Given the description of an element on the screen output the (x, y) to click on. 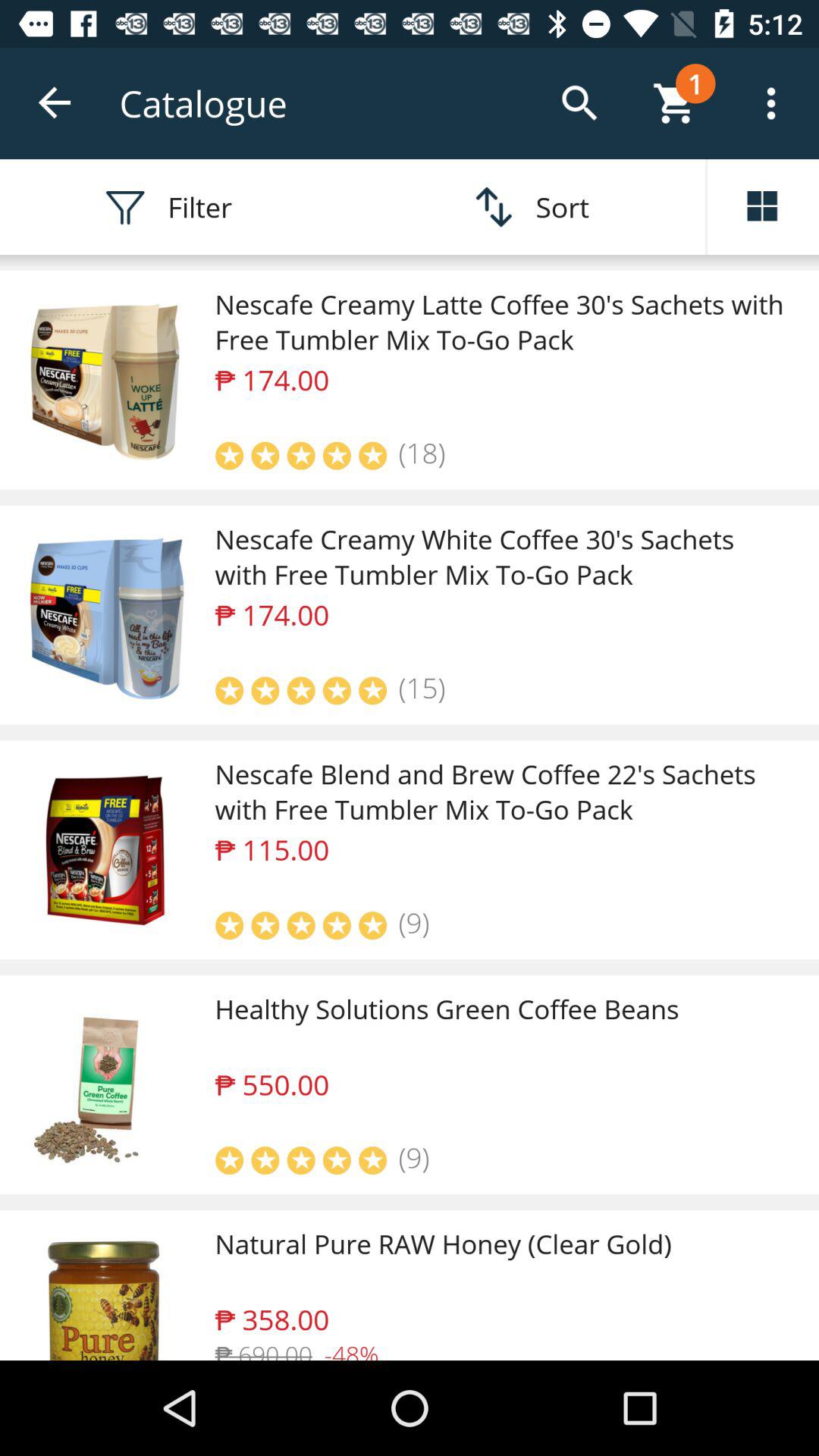
options menu (763, 206)
